Given the description of an element on the screen output the (x, y) to click on. 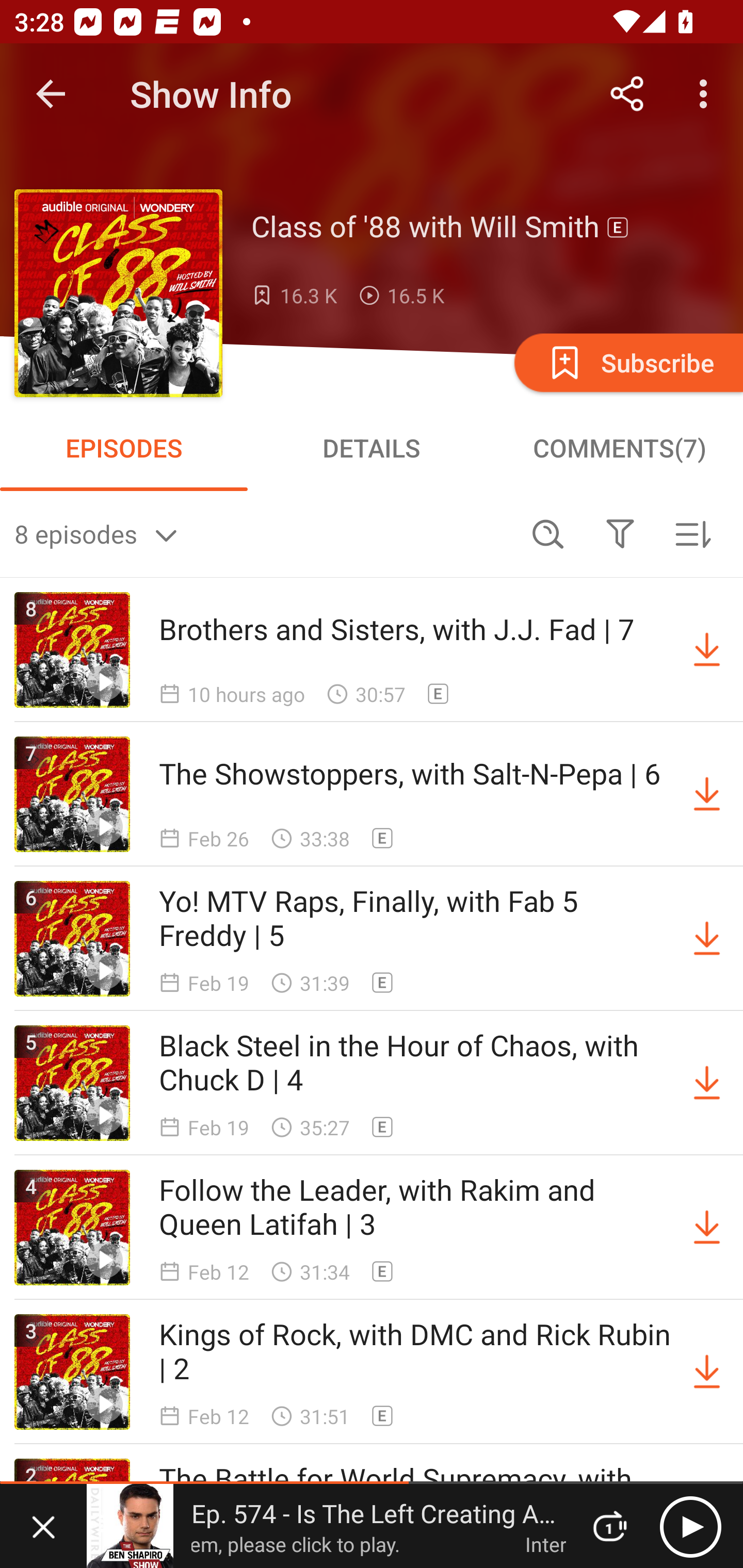
Navigate up (50, 93)
Share (626, 93)
More options (706, 93)
Subscribe (627, 361)
EPISODES (123, 447)
DETAILS (371, 447)
COMMENTS(7) (619, 447)
8 episodes  (262, 533)
 Search (547, 533)
 (619, 533)
 Sorted by newest first (692, 533)
Download (706, 649)
Download (706, 793)
Download (706, 939)
Download (706, 1083)
Download (706, 1227)
Download (706, 1371)
Play (690, 1526)
